Given the description of an element on the screen output the (x, y) to click on. 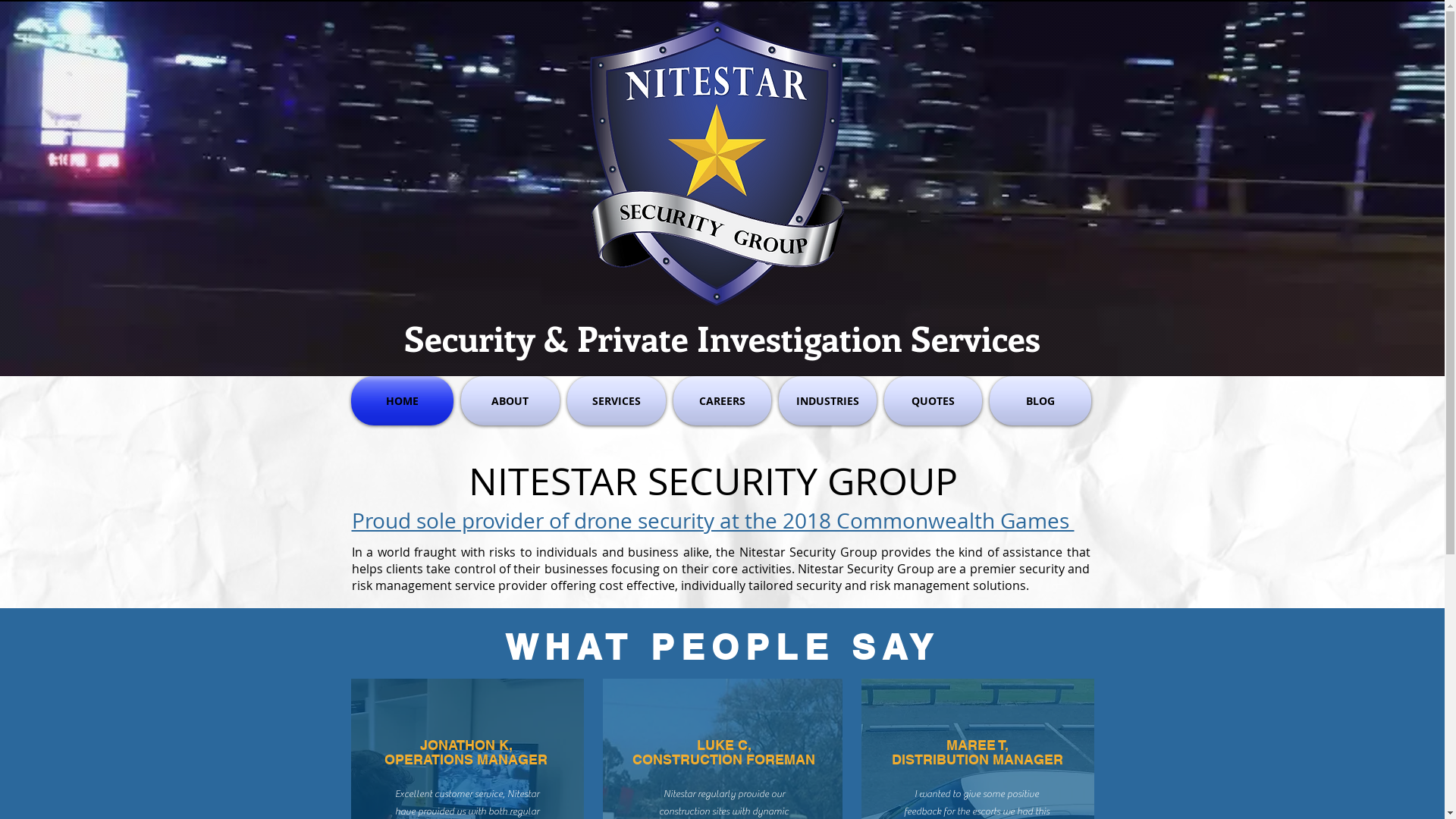
INDUSTRIES Element type: text (827, 400)
BLOG Element type: text (1061, 82)
INDUSTRIES Element type: text (926, 82)
CAREERS Element type: text (849, 82)
BLOG Element type: text (1038, 400)
HOME Element type: text (403, 400)
QUOTES Element type: text (932, 400)
SERVICES Element type: text (615, 400)
CAREERS Element type: text (721, 400)
HOME Element type: text (654, 82)
SERVICES Element type: text (779, 82)
ABOUT Element type: text (509, 400)
v2.png Element type: hover (713, 162)
v1_edited.png Element type: hover (400, 55)
QUOTES Element type: text (1003, 82)
ABOUT Element type: text (712, 82)
